Given the description of an element on the screen output the (x, y) to click on. 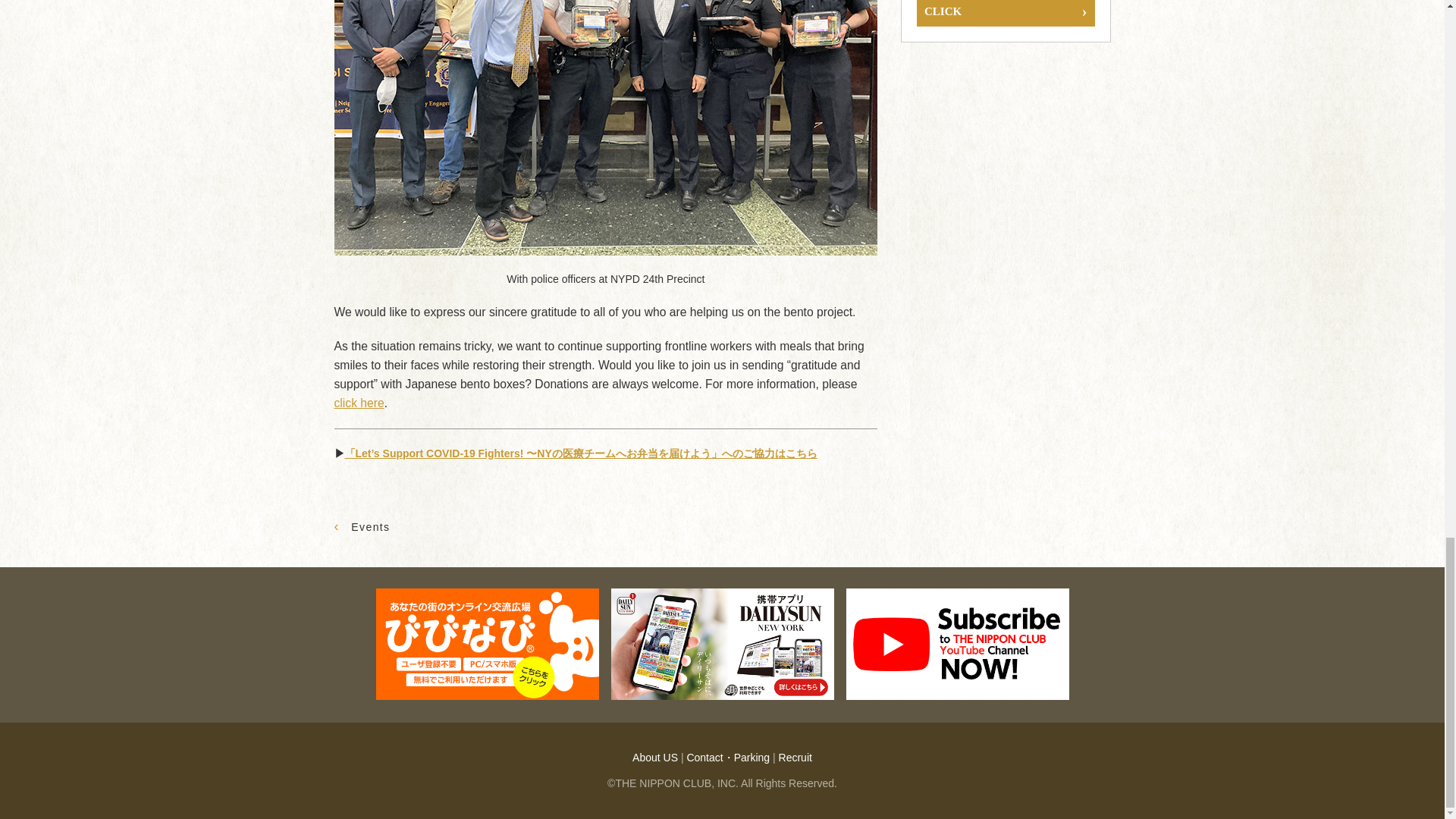
click here (358, 402)
